Given the description of an element on the screen output the (x, y) to click on. 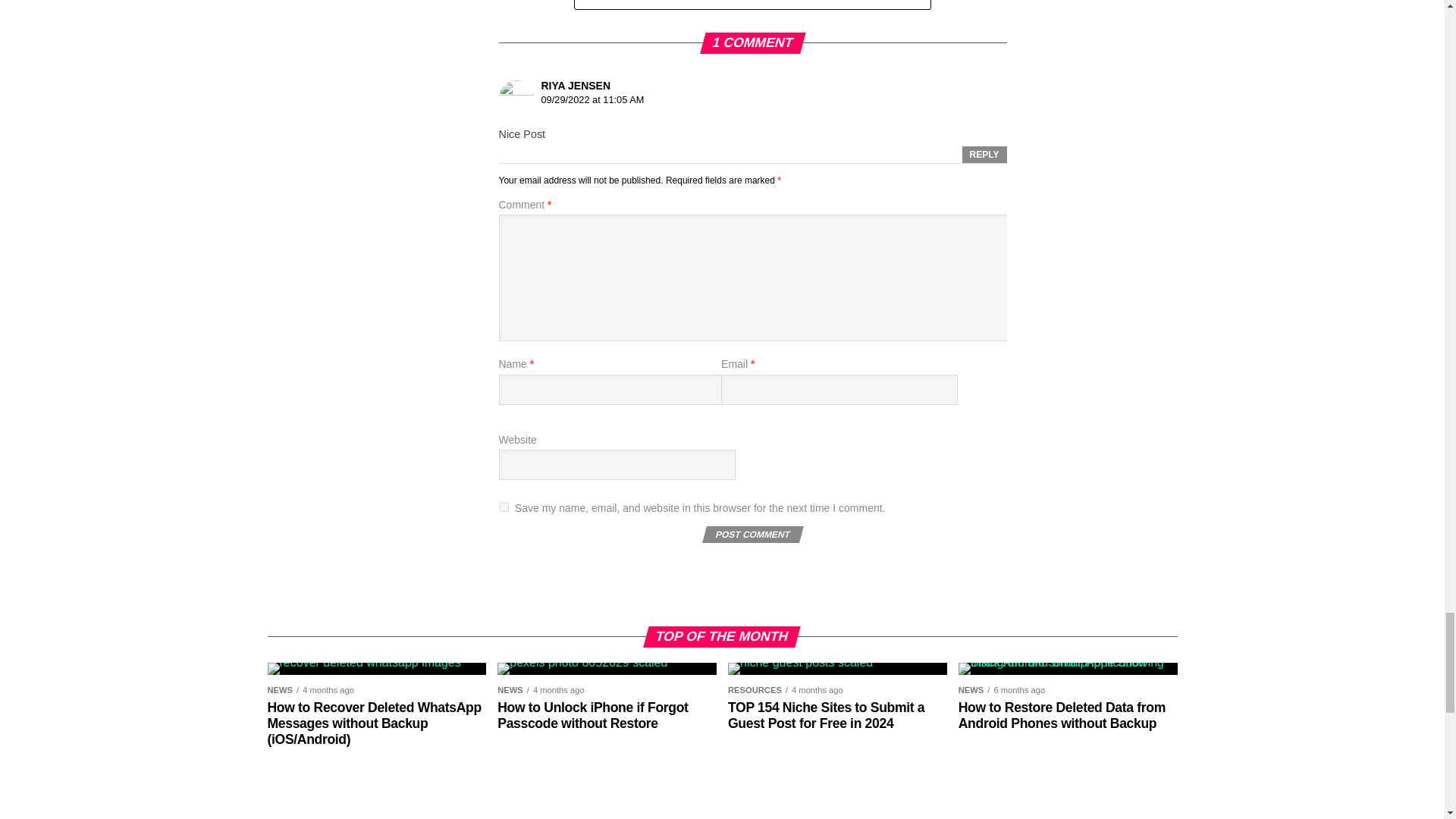
Post Comment (750, 534)
yes (503, 506)
